Given the description of an element on the screen output the (x, y) to click on. 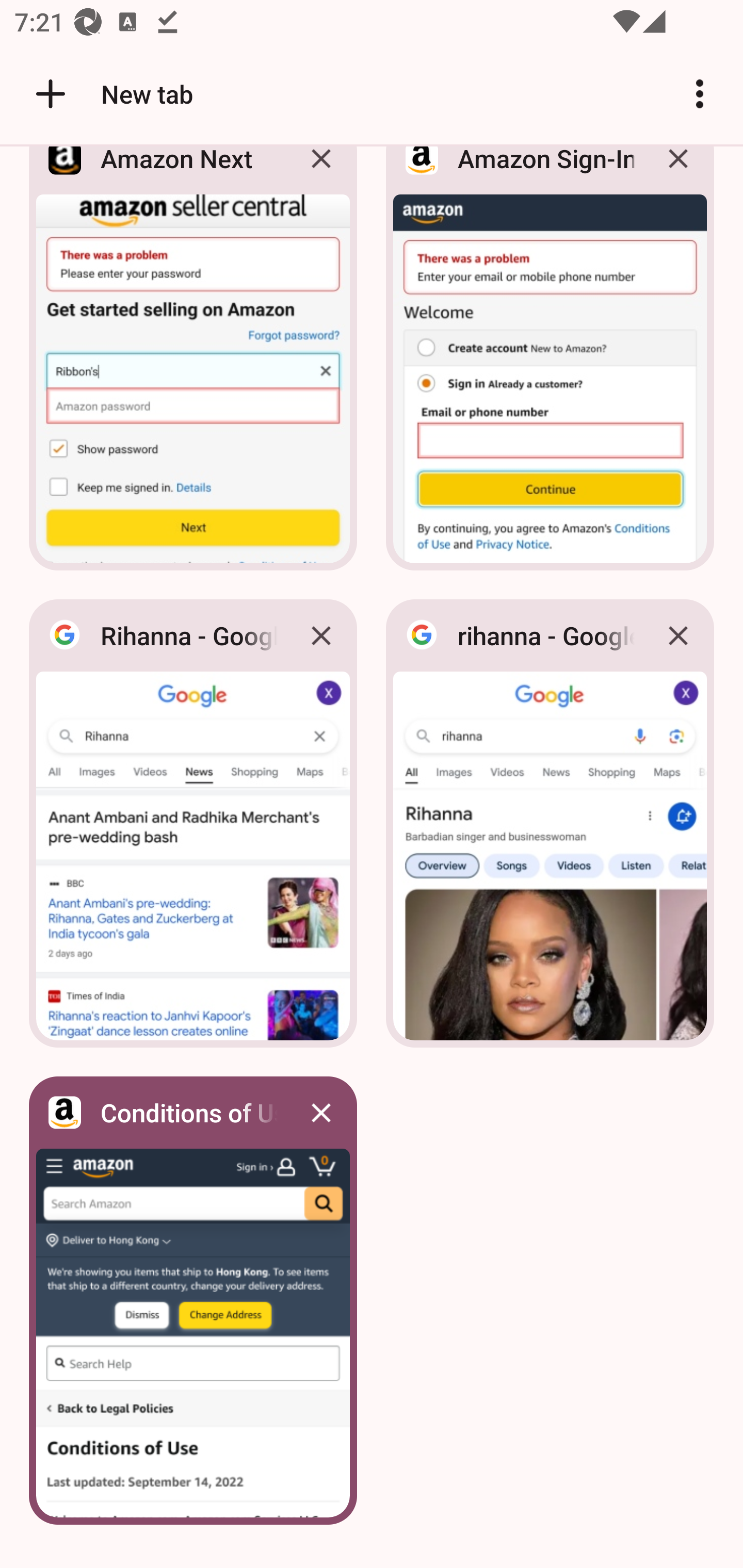
New tab (111, 93)
Customize and control Google Chrome (699, 93)
Amazon Next Amazon Next, tab Close Amazon Next tab (192, 364)
Close Amazon Next tab (320, 173)
Close Amazon Sign-In tab (677, 173)
Close Rihanna - Google Search tab (320, 635)
Close rihanna - Google Search tab (677, 635)
